Given the description of an element on the screen output the (x, y) to click on. 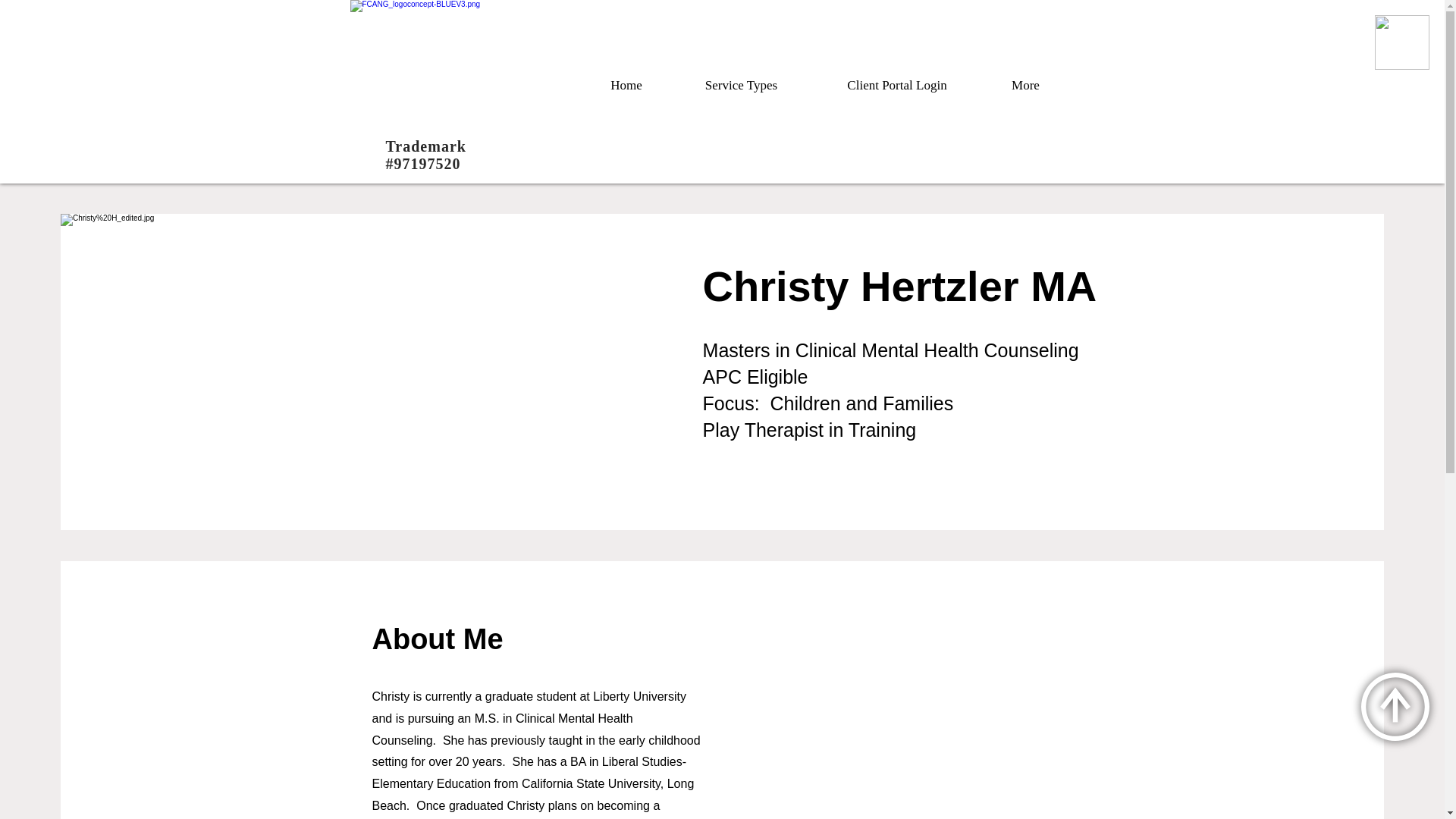
Service Types (740, 85)
Home (625, 85)
Client Portal Login (897, 85)
